Given the description of an element on the screen output the (x, y) to click on. 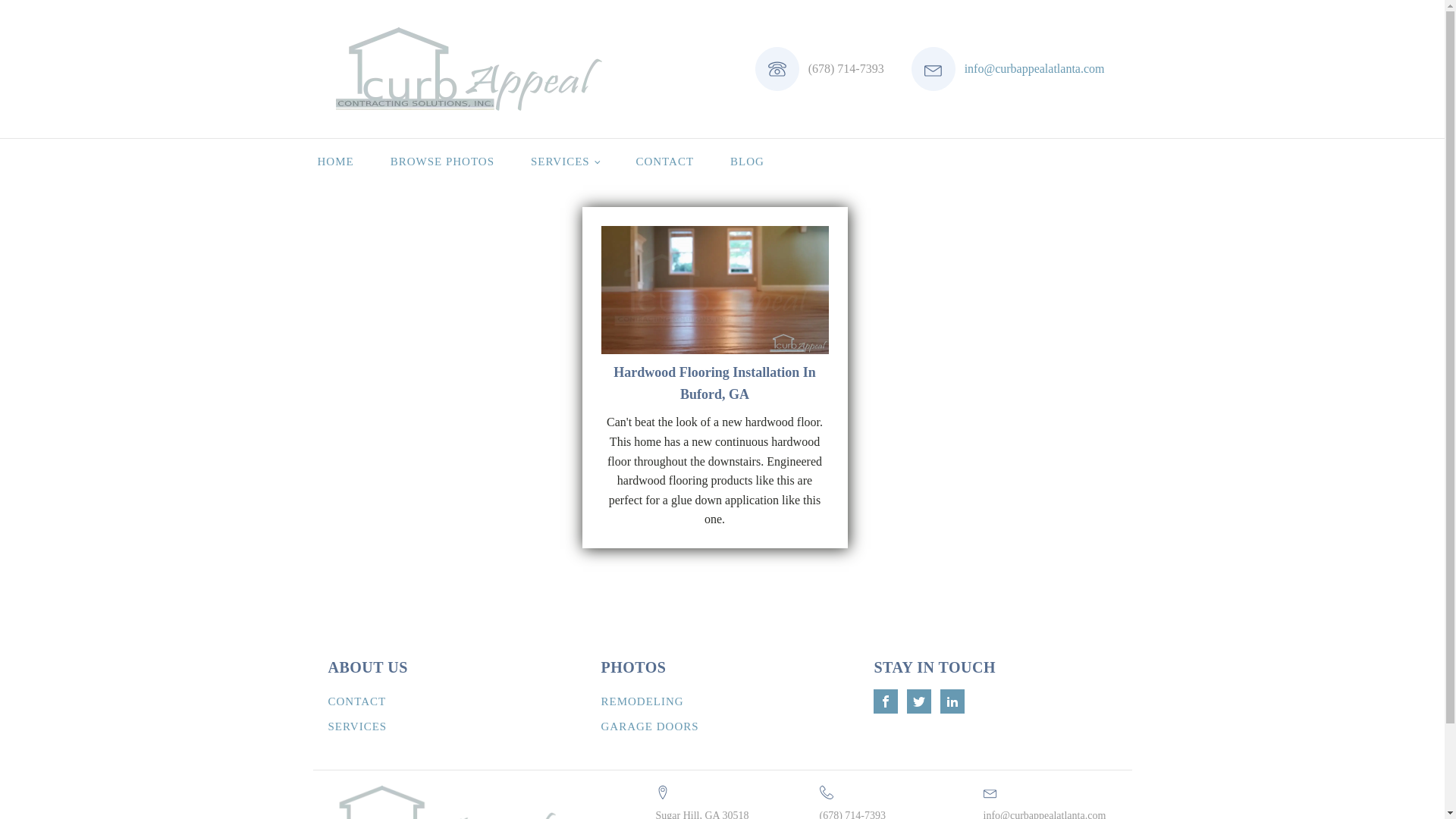
SERVICES (358, 726)
CONTACT (358, 701)
CONTACT (664, 161)
REMODELING (640, 701)
GARAGE DOORS (648, 726)
SERVICES (564, 161)
BROWSE PHOTOS (442, 161)
HOME (334, 161)
BLOG (747, 161)
